Given the description of an element on the screen output the (x, y) to click on. 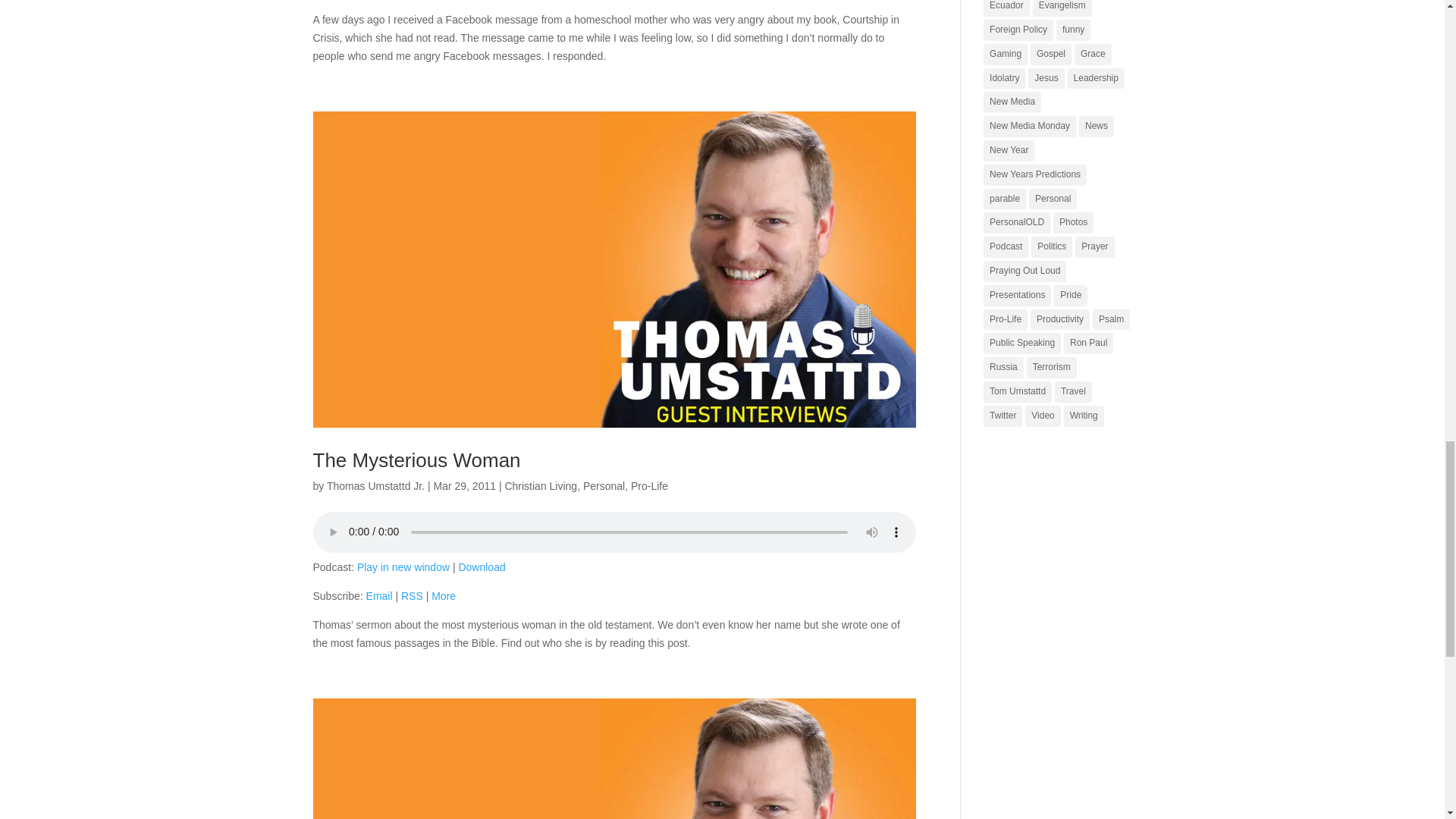
Subscribe via RSS (412, 595)
Posts by Thomas Umstattd Jr. (375, 485)
Play in new window (402, 567)
Christian Living (539, 485)
Thomas Umstattd Jr. (375, 485)
Personal (603, 485)
The Mysterious Woman (416, 459)
More (442, 595)
Download (481, 567)
Subscribe by Email (379, 595)
